Given the description of an element on the screen output the (x, y) to click on. 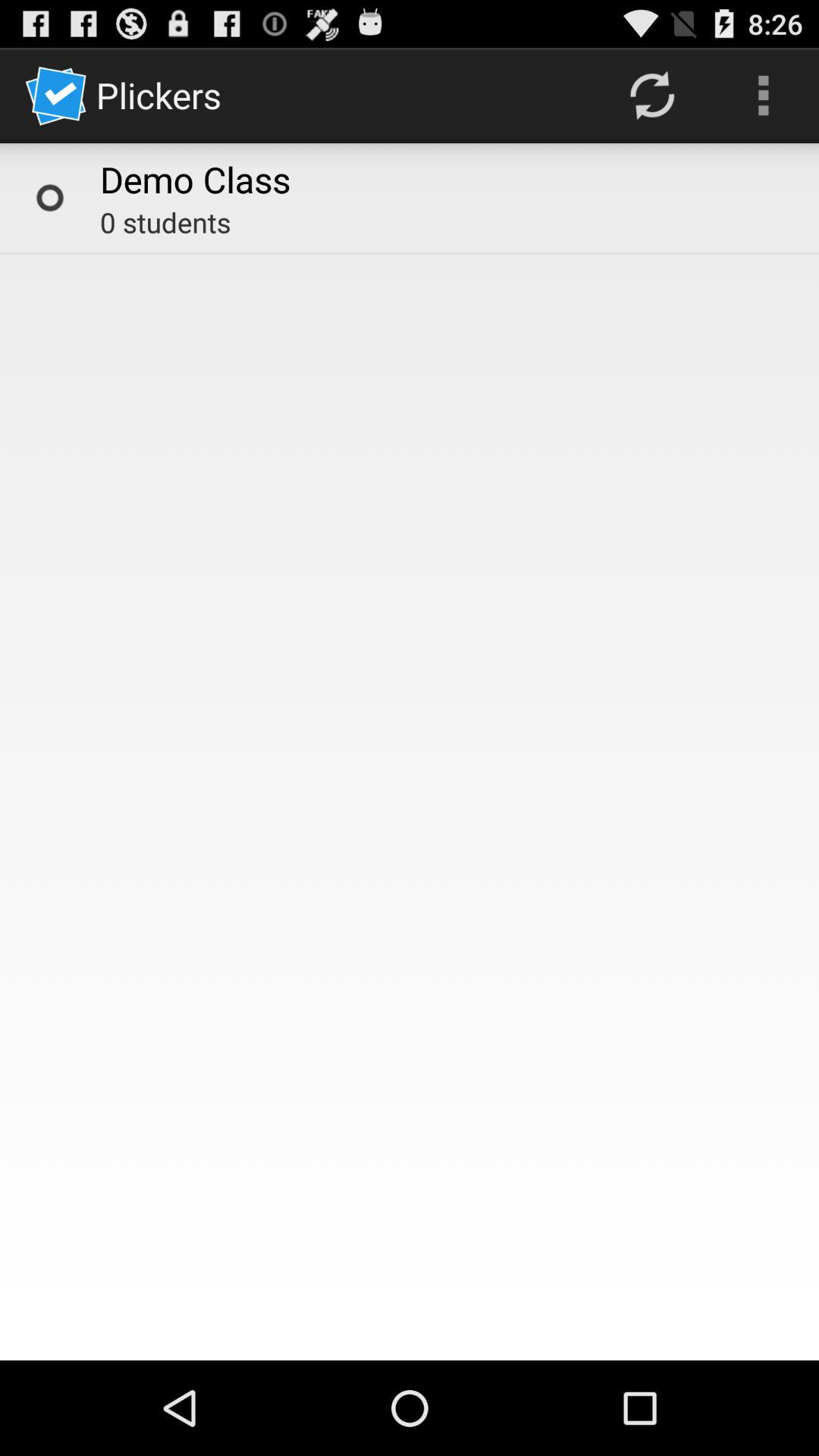
scroll until 0 students icon (165, 222)
